Given the description of an element on the screen output the (x, y) to click on. 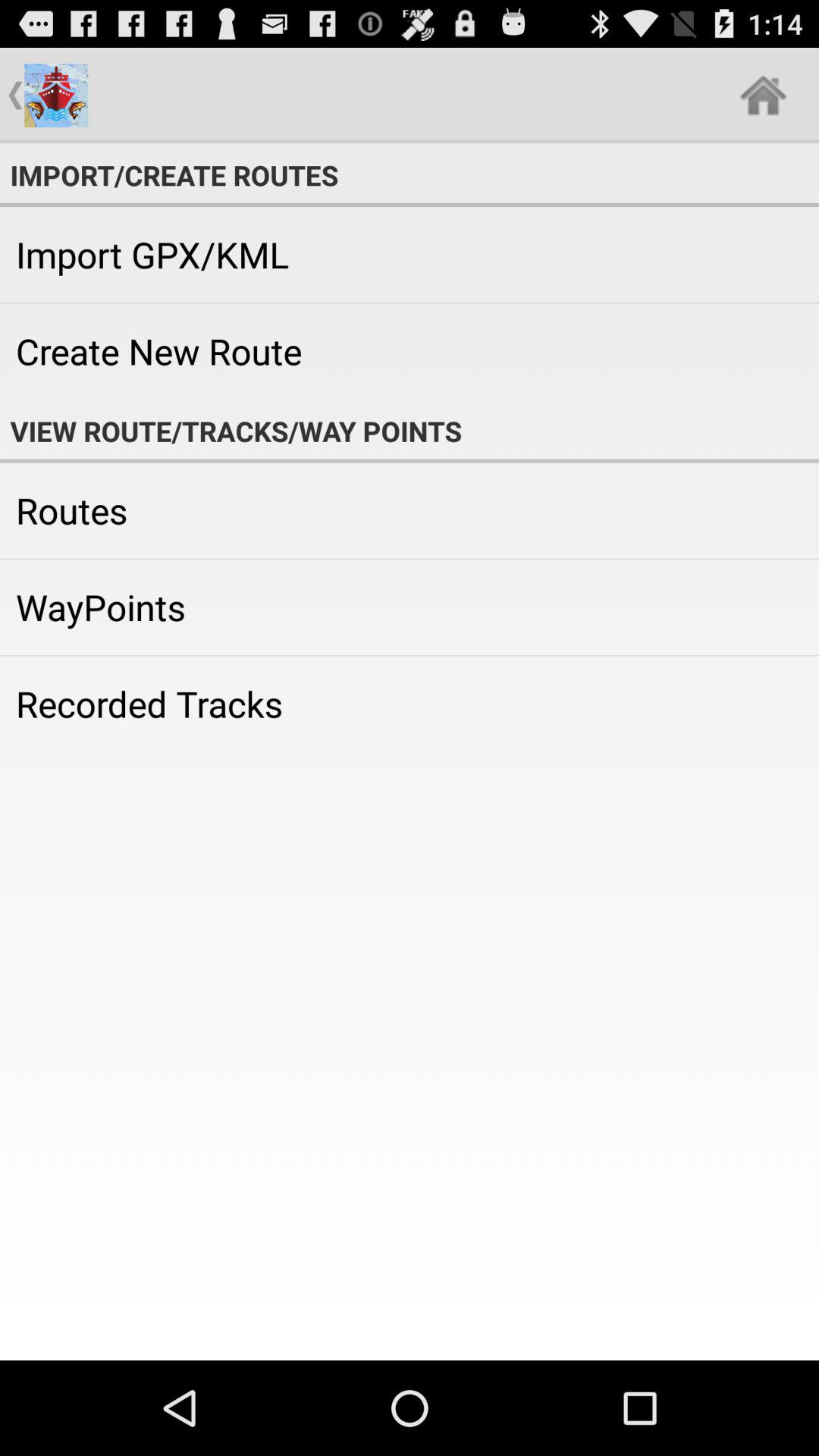
flip until the recorded tracks (409, 703)
